Given the description of an element on the screen output the (x, y) to click on. 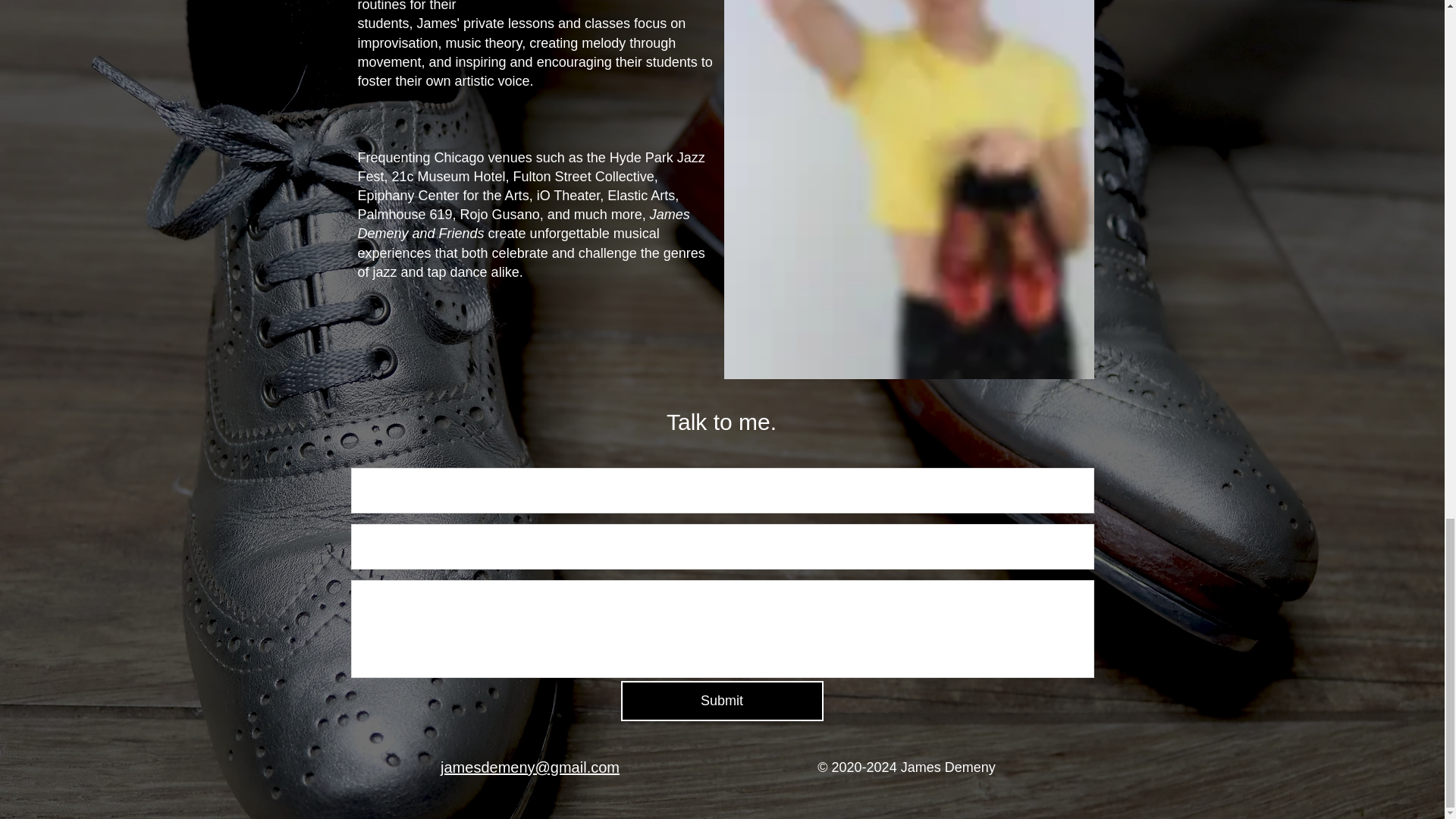
Submit (721, 700)
